Given the description of an element on the screen output the (x, y) to click on. 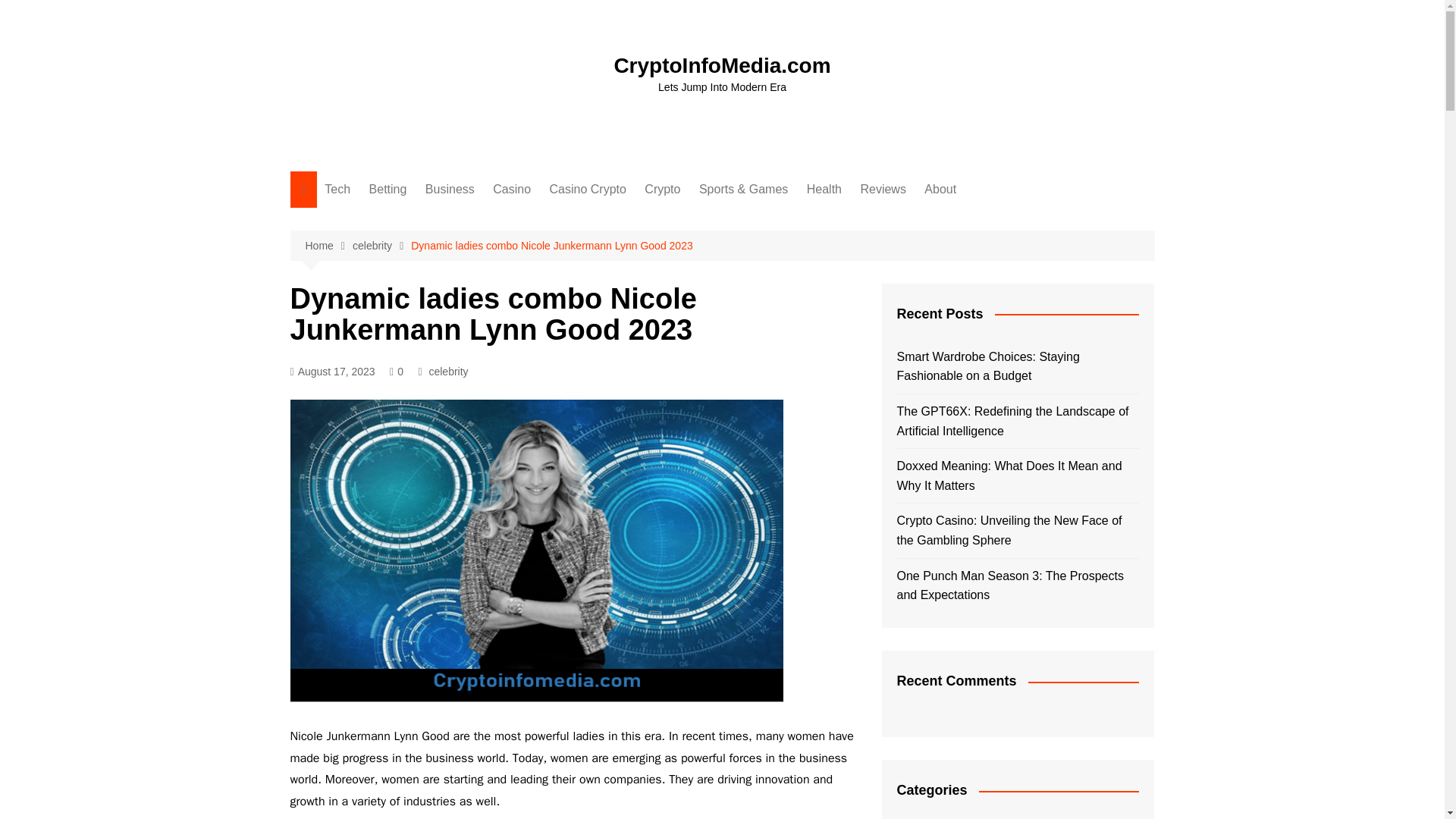
Bonuses (568, 244)
Insurance (501, 269)
Business (449, 189)
Gambling (444, 220)
Product Marketing (501, 294)
CryptoInfoMedia.com (720, 65)
Contact Us (1000, 220)
Health (823, 189)
NFTs (720, 294)
Privacy Policy (1000, 269)
